Given the description of an element on the screen output the (x, y) to click on. 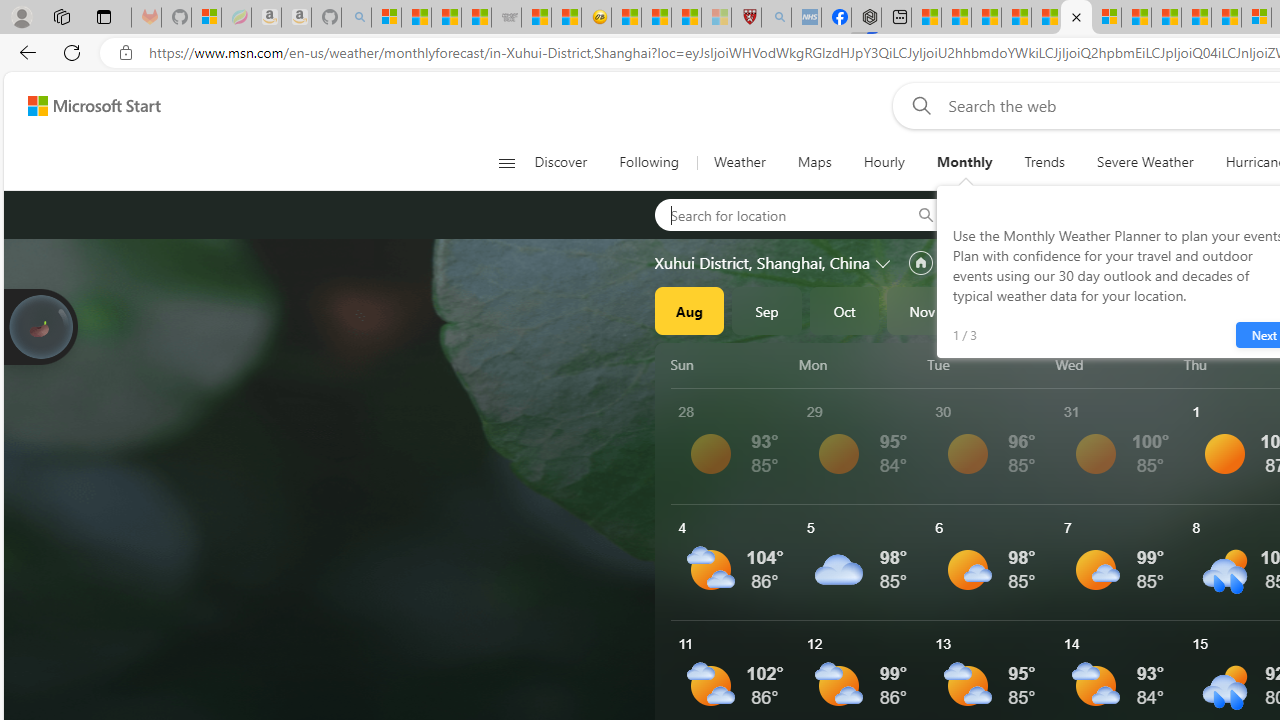
Wed (1115, 363)
Weather (738, 162)
Join us in planting real trees to help our planet! (40, 325)
